Given the description of an element on the screen output the (x, y) to click on. 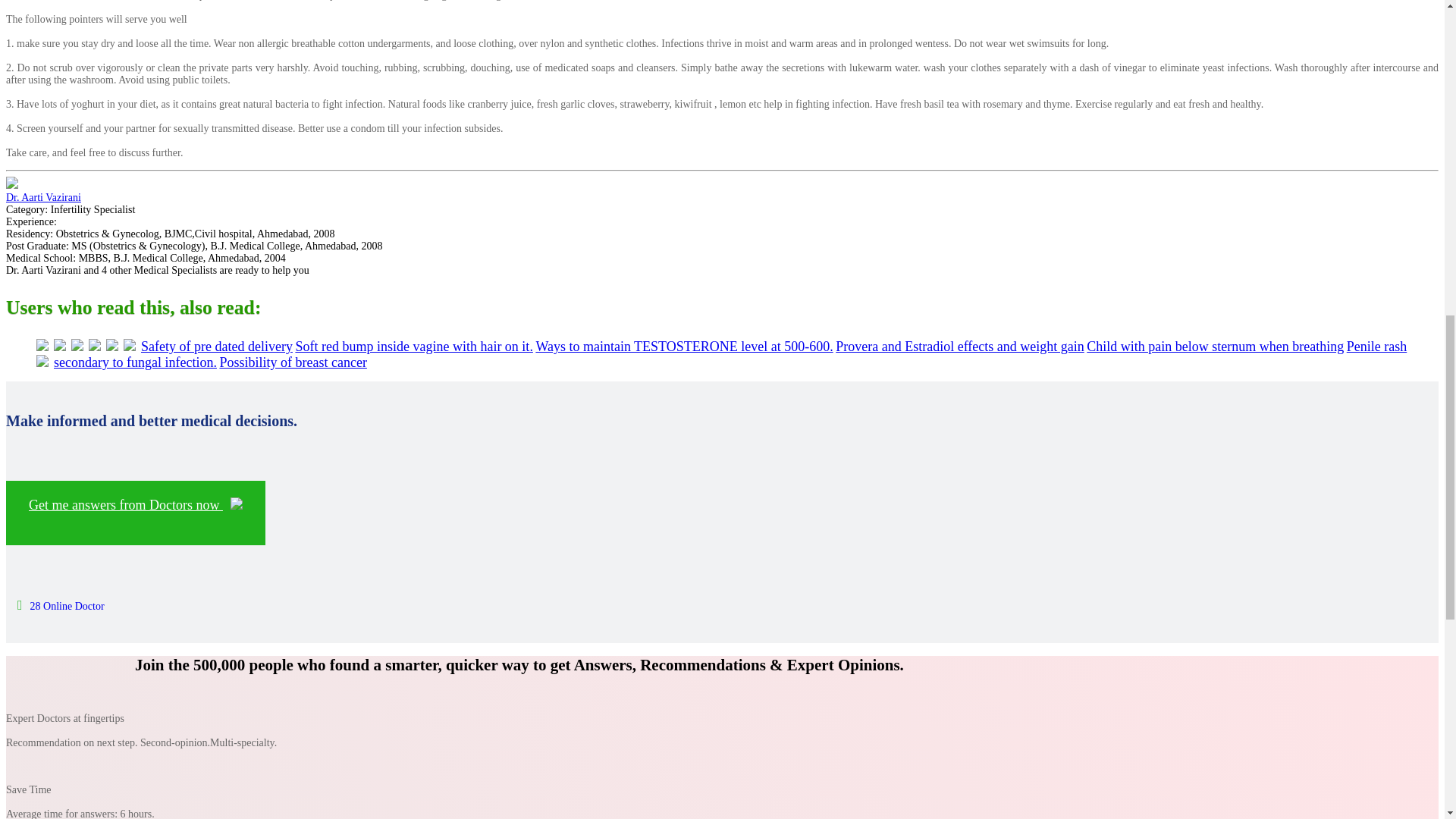
Child with pain below sternum when breathing (1214, 346)
Provera and Estradiol effects and weight gain (959, 346)
Possibility of breast cancer (292, 362)
Ways to maintain TESTOSTERONE level at 500-600. (683, 346)
28 Online Doctor (60, 605)
Dr. Aarti Vazirani (43, 197)
Safety of pre dated delivery (216, 346)
Get me answers from Doctors now (134, 512)
Penile rash secondary to fungal infection. (729, 354)
Ask a Doctor now (134, 512)
Soft red bump inside vagine with hair on it. (413, 346)
